Given the description of an element on the screen output the (x, y) to click on. 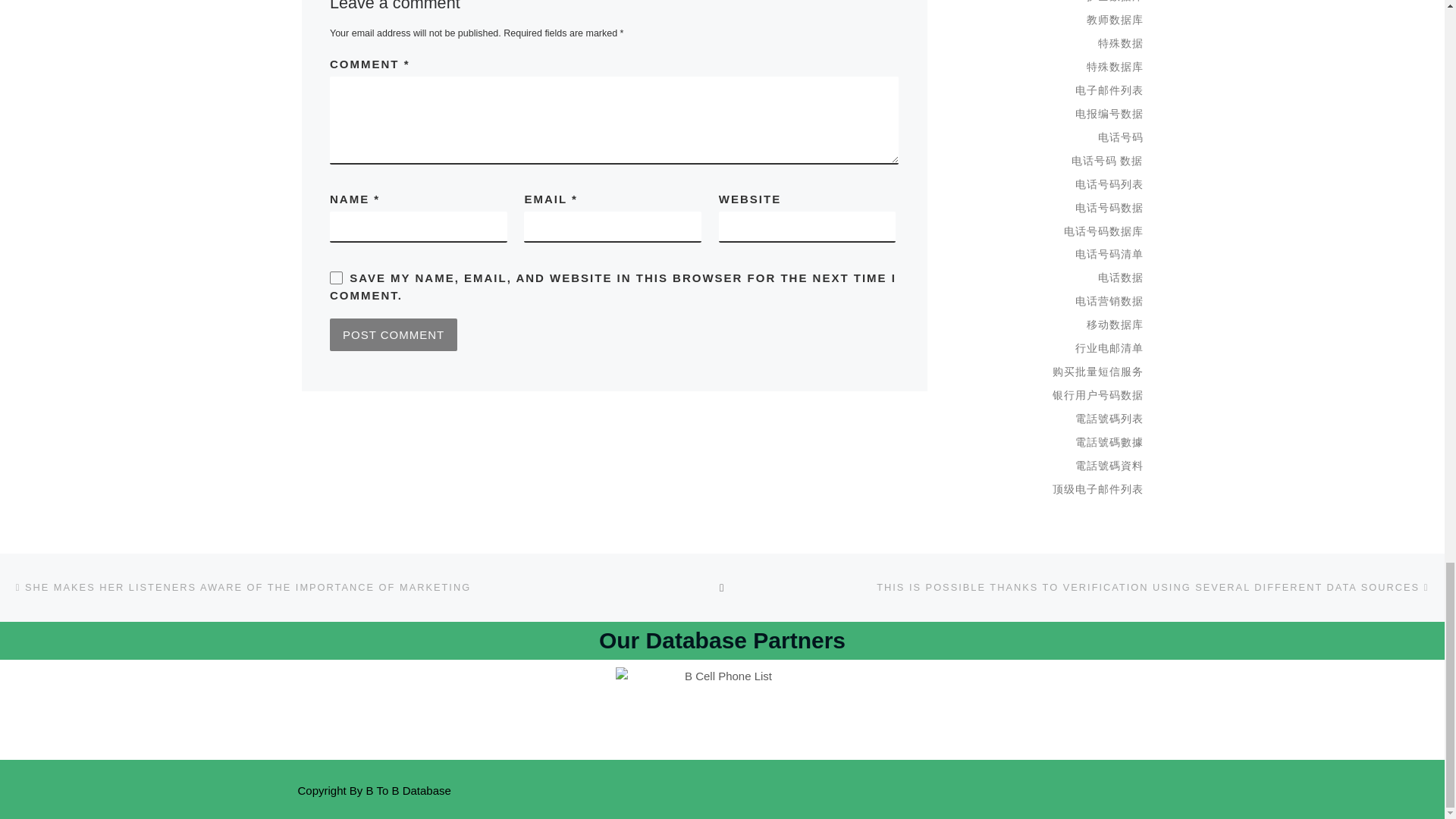
yes (336, 277)
Post Comment (393, 334)
